Given the description of an element on the screen output the (x, y) to click on. 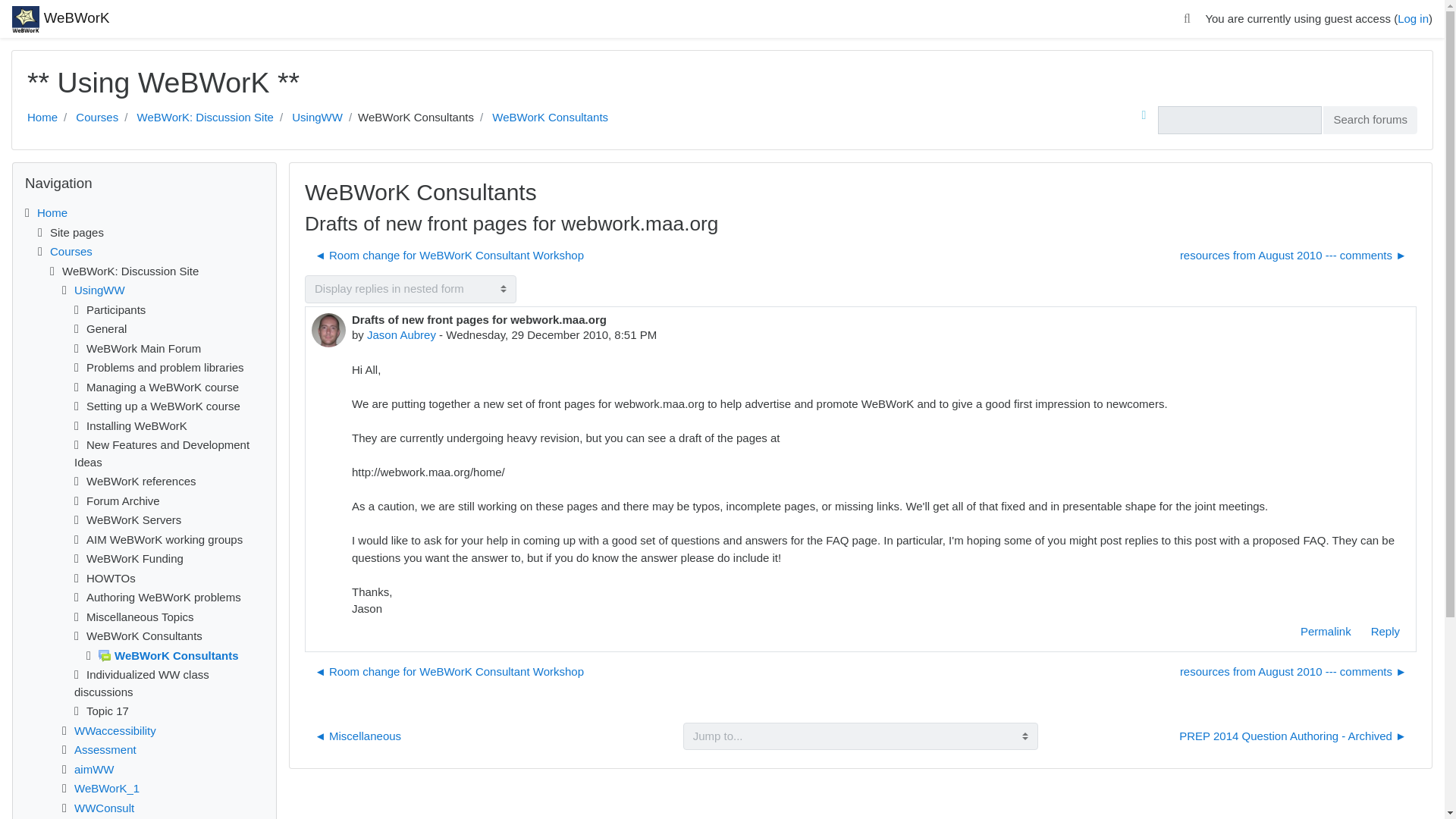
aimWW (94, 768)
WeBWorK: Discussion Site (204, 116)
WWaccessibility (114, 729)
Search forums (1369, 120)
WWConsult (103, 807)
Home (42, 116)
Permanent link to this post (1325, 631)
Assessment (105, 748)
PREP 2014 Question Authoring - Archived (1292, 735)
Courses (96, 116)
